Given the description of an element on the screen output the (x, y) to click on. 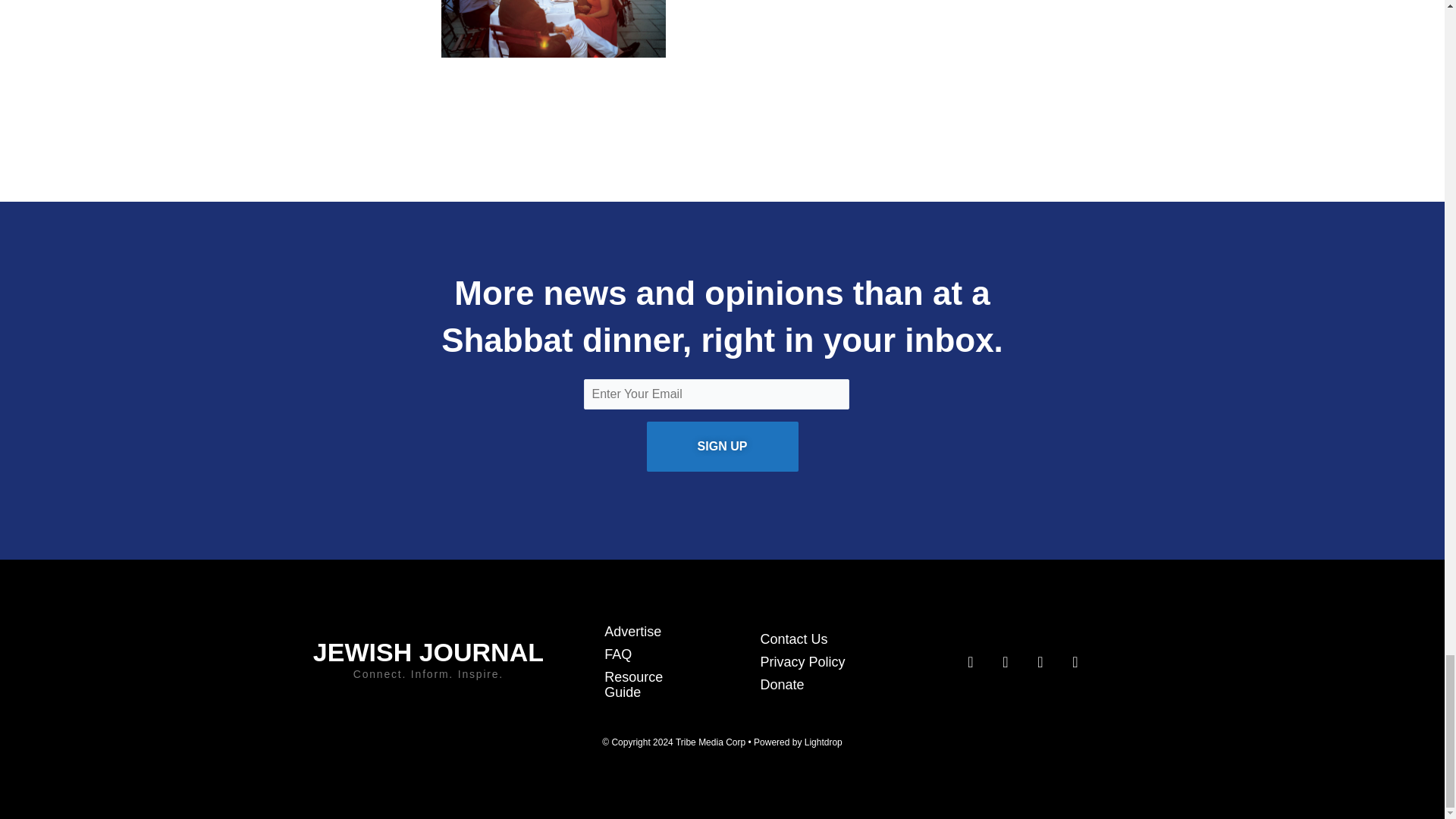
3rd party ad content (721, 118)
Sign Up (721, 446)
